Given the description of an element on the screen output the (x, y) to click on. 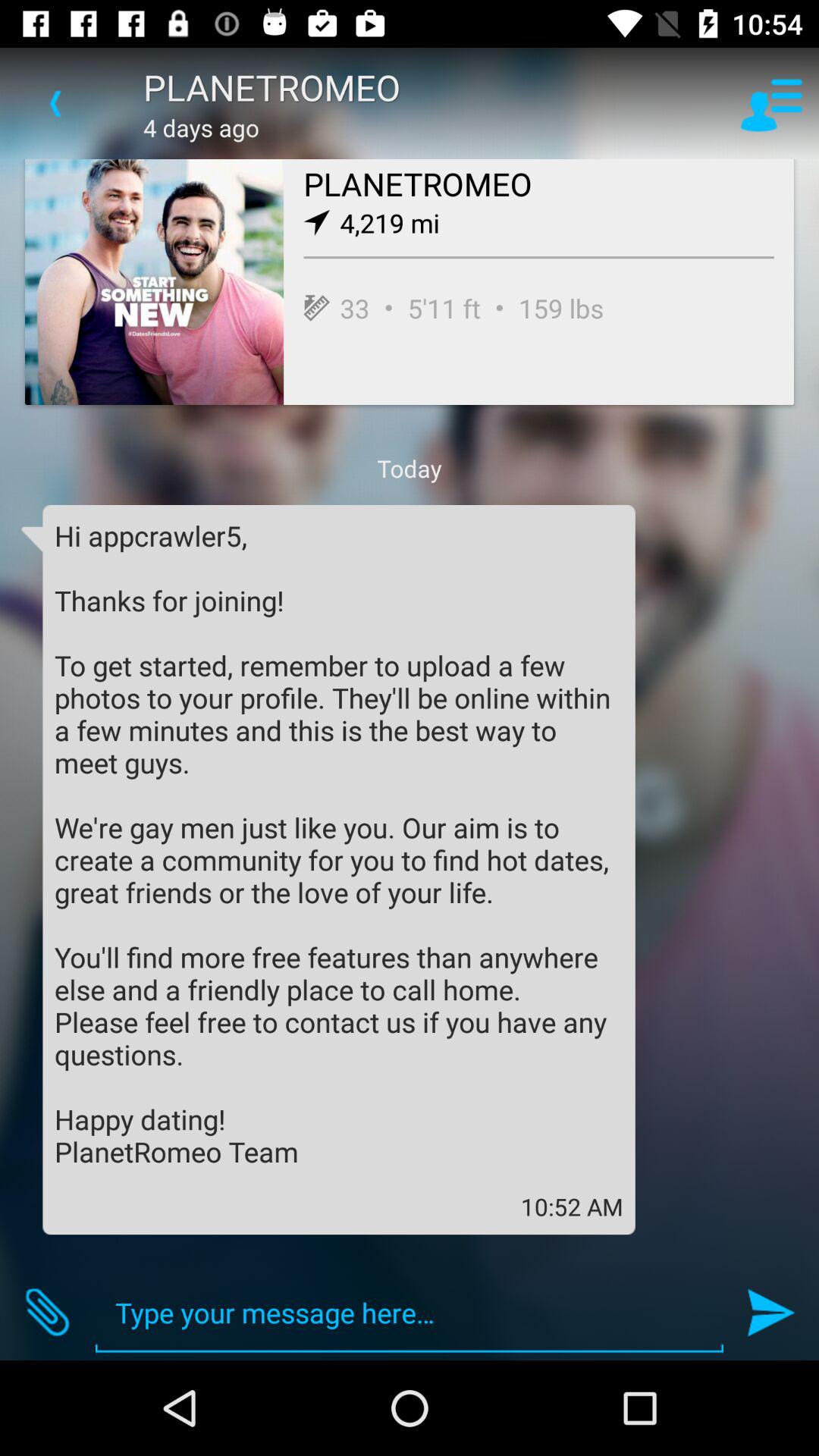
launch item below the today item (338, 843)
